Given the description of an element on the screen output the (x, y) to click on. 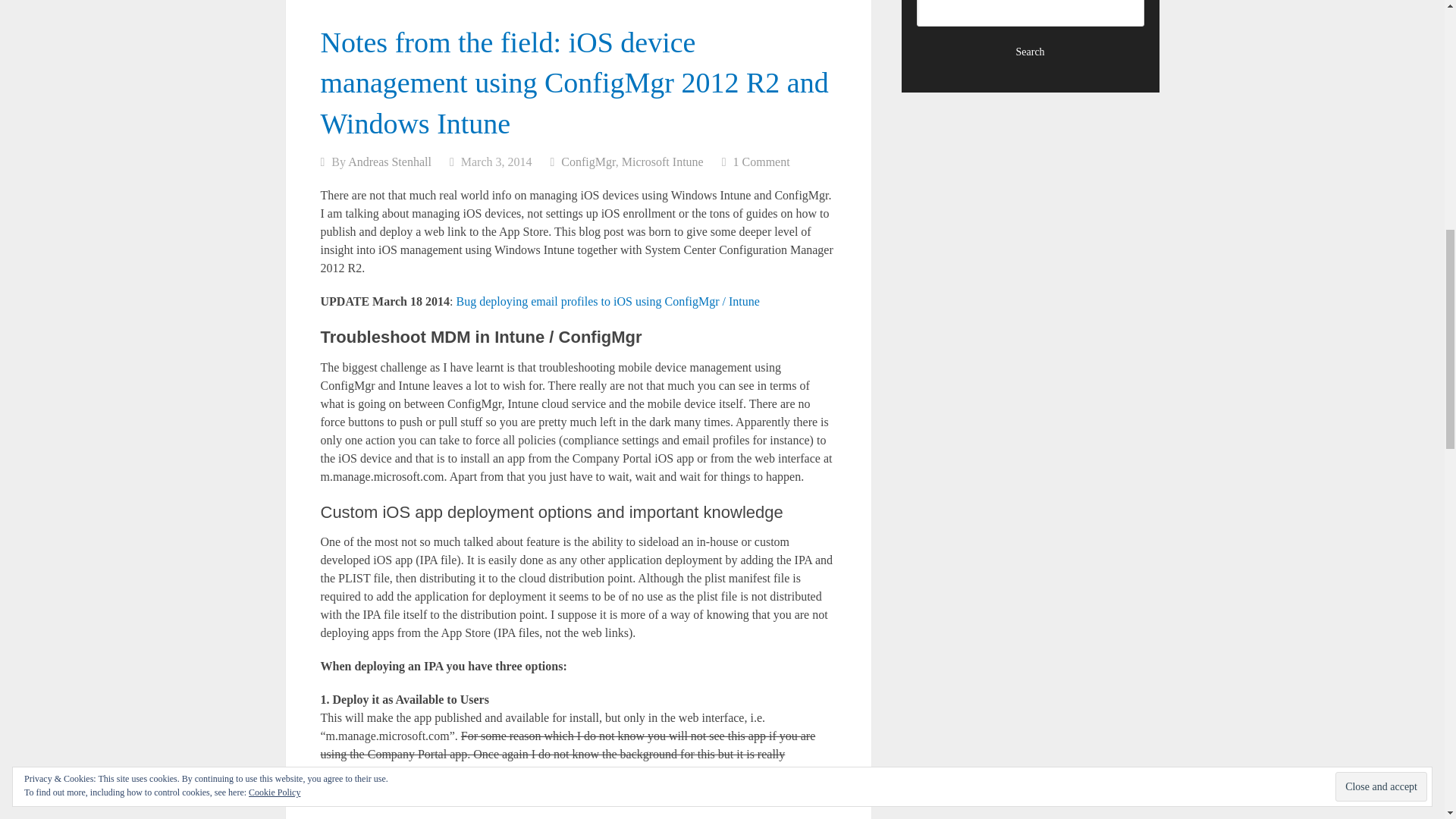
Andreas Stenhall (388, 161)
Posts by Andreas Stenhall (388, 161)
1 Comment (761, 161)
Search (1030, 52)
ConfigMgr (587, 161)
Microsoft Intune (662, 161)
